Given the description of an element on the screen output the (x, y) to click on. 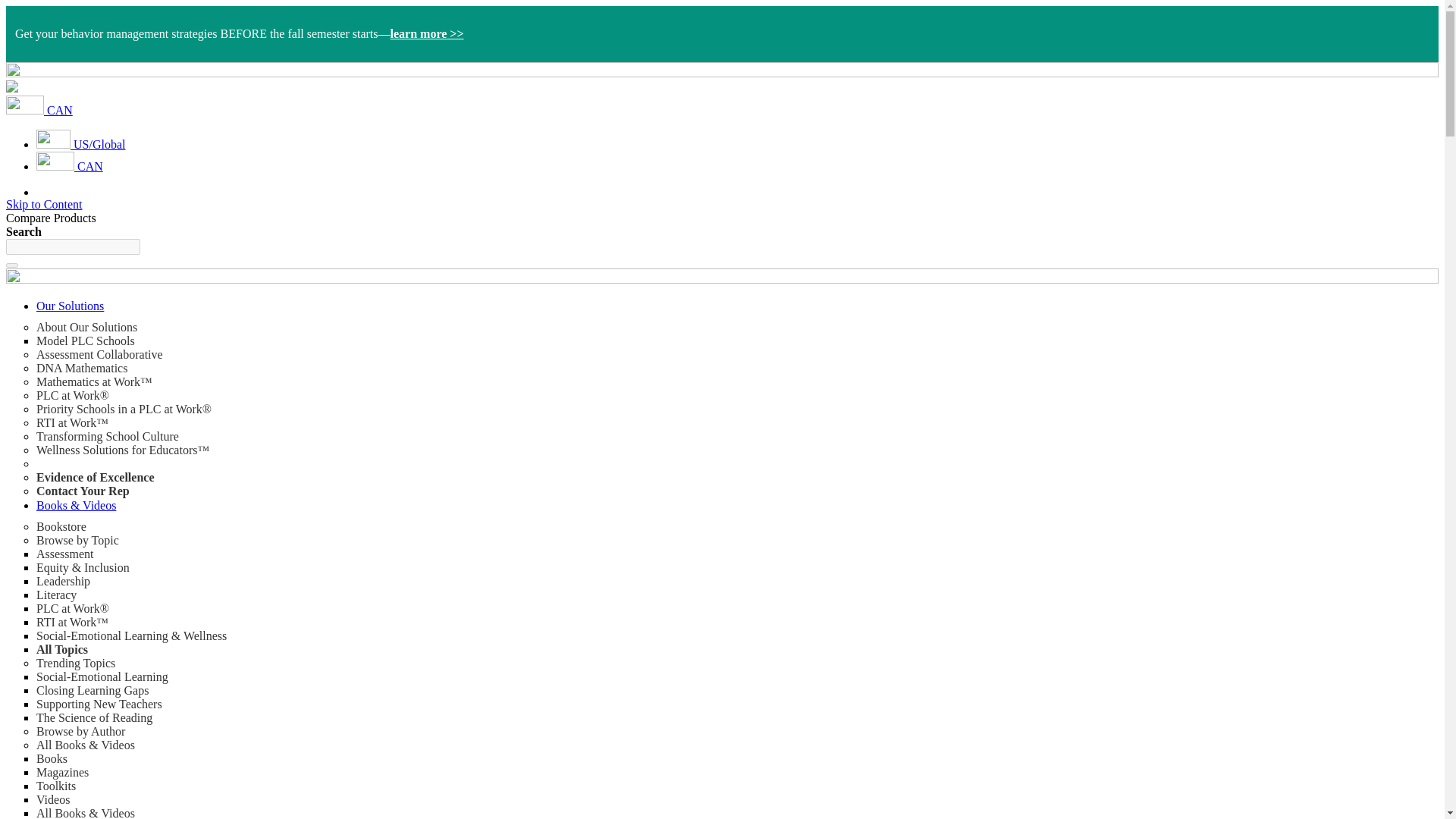
All Topics (61, 649)
Assessment (65, 553)
CAN (69, 165)
Trending Topics (75, 662)
Assessment Collaborative (99, 354)
Model PLC Schools (85, 340)
Search (11, 264)
Compare Products (50, 217)
CAN (38, 110)
DNA Mathematics (82, 367)
